Given the description of an element on the screen output the (x, y) to click on. 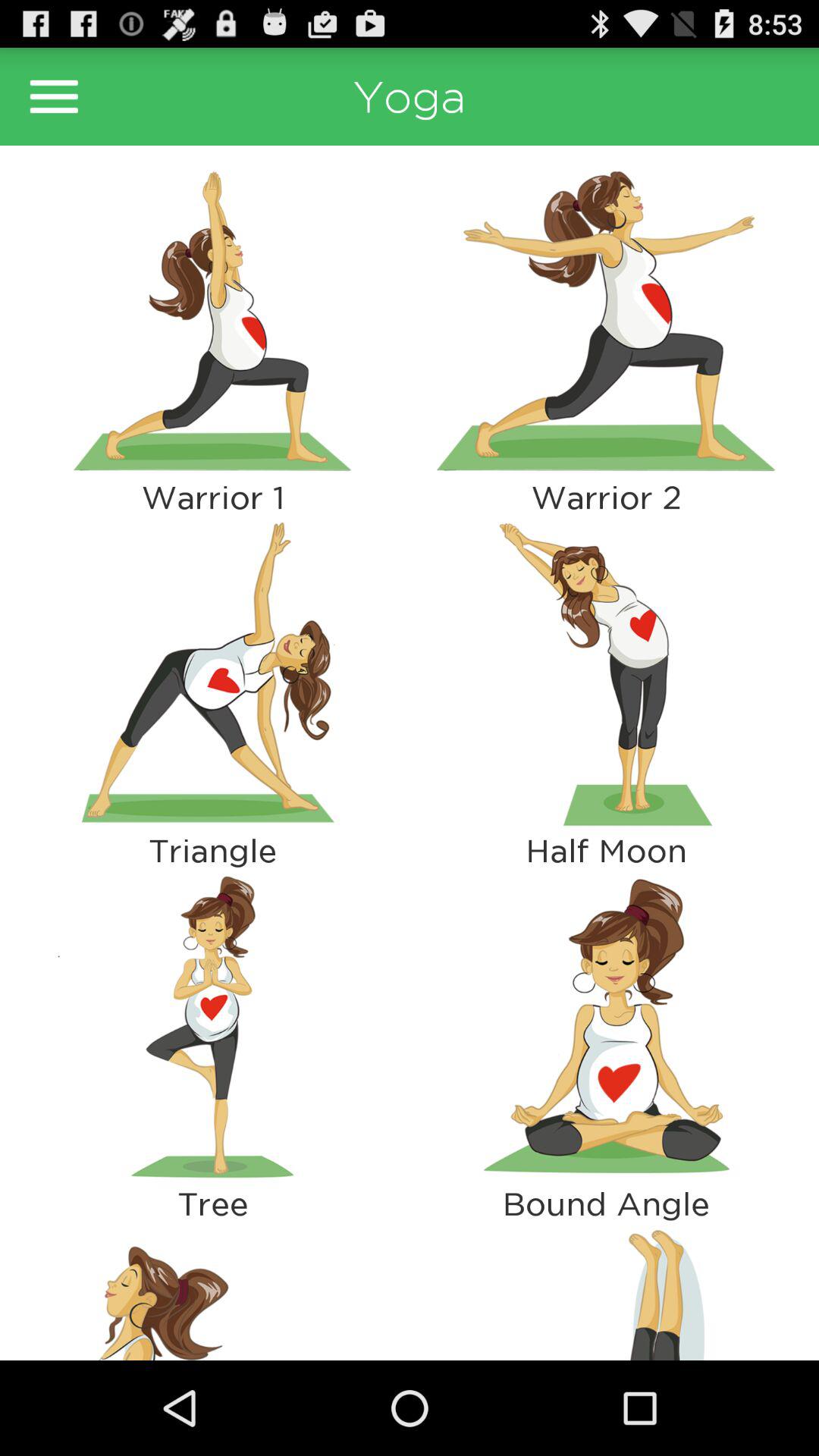
launch app to the right of the tree (606, 1290)
